Given the description of an element on the screen output the (x, y) to click on. 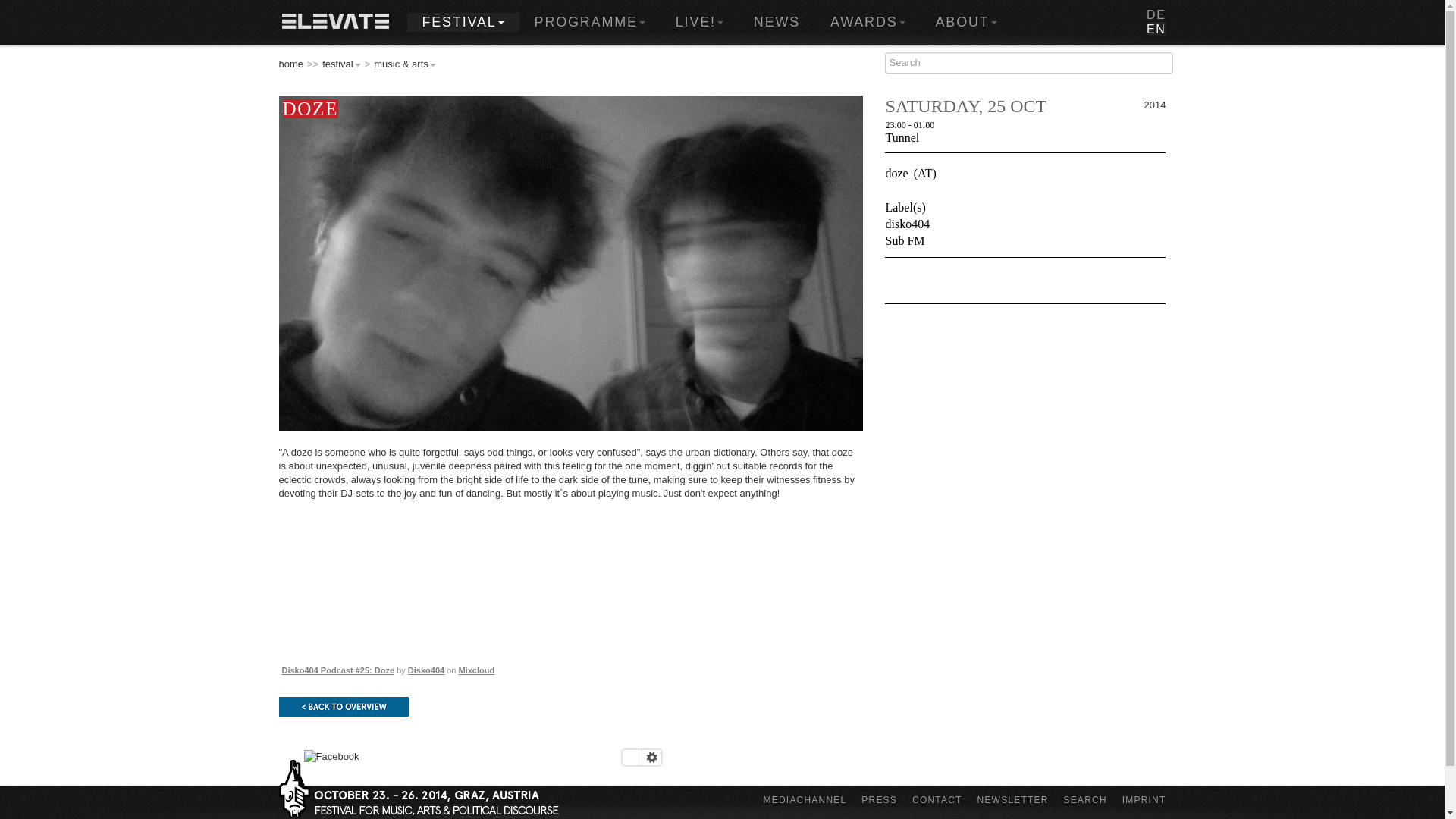
Festival (462, 22)
LIVE! (699, 22)
FESTIVAL (462, 22)
AWARDS (867, 22)
PROGRAMME (590, 22)
Home (335, 22)
NEWS (776, 22)
